Given the description of an element on the screen output the (x, y) to click on. 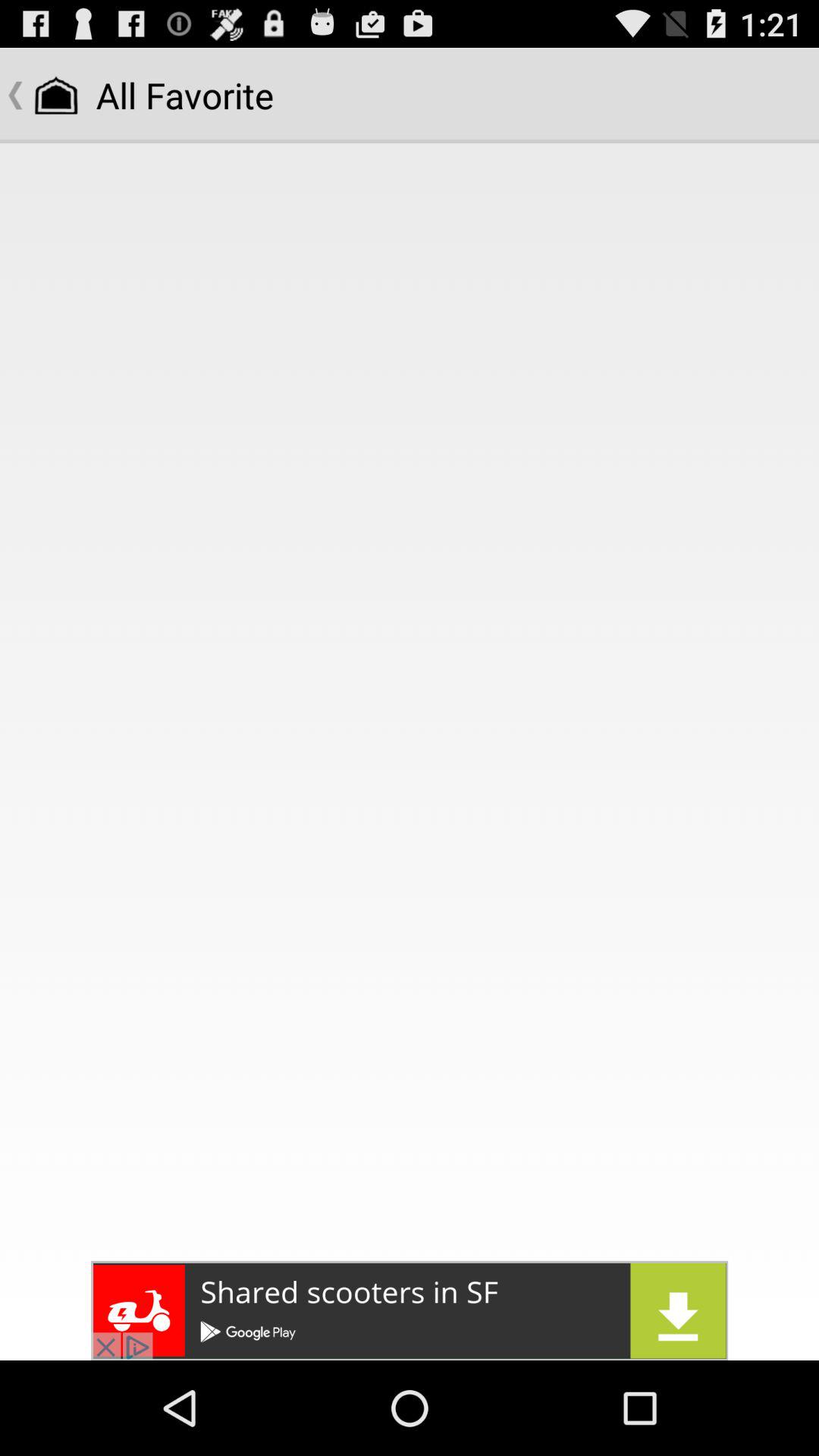
shared scooters in sf (409, 1310)
